Given the description of an element on the screen output the (x, y) to click on. 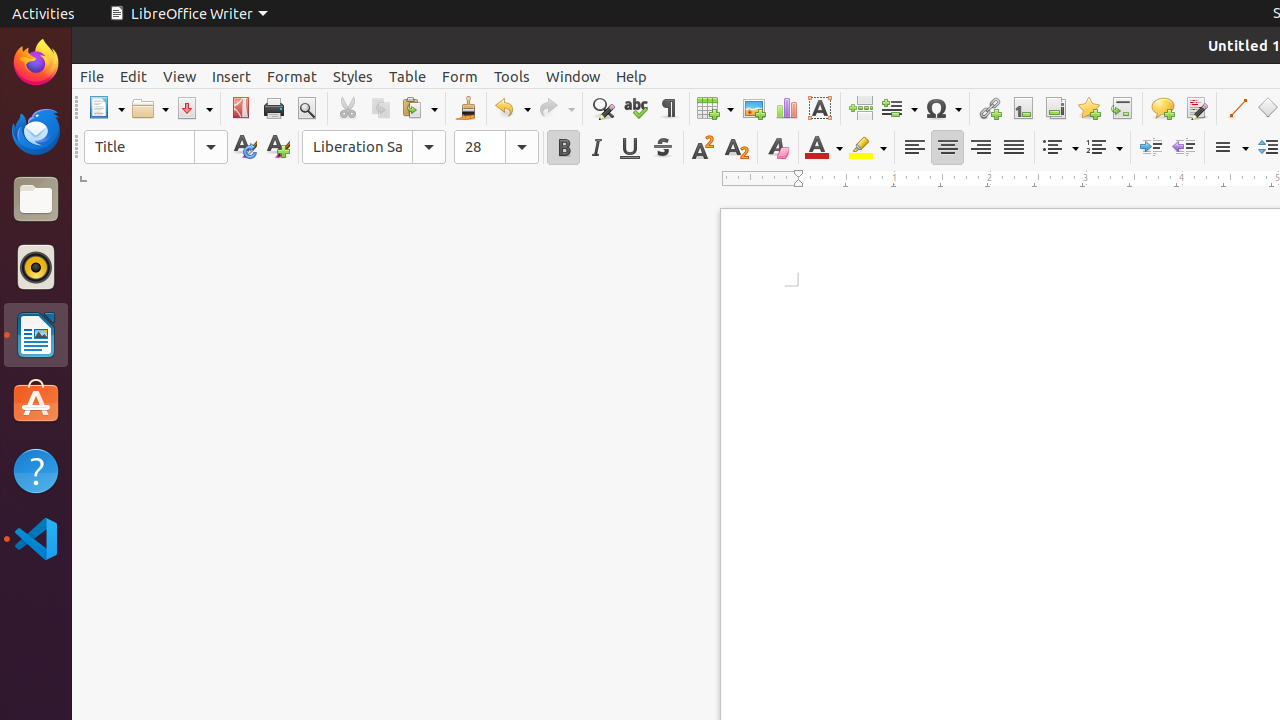
Help Element type: menu (631, 76)
Ubuntu Software Element type: push-button (36, 402)
